Given the description of an element on the screen output the (x, y) to click on. 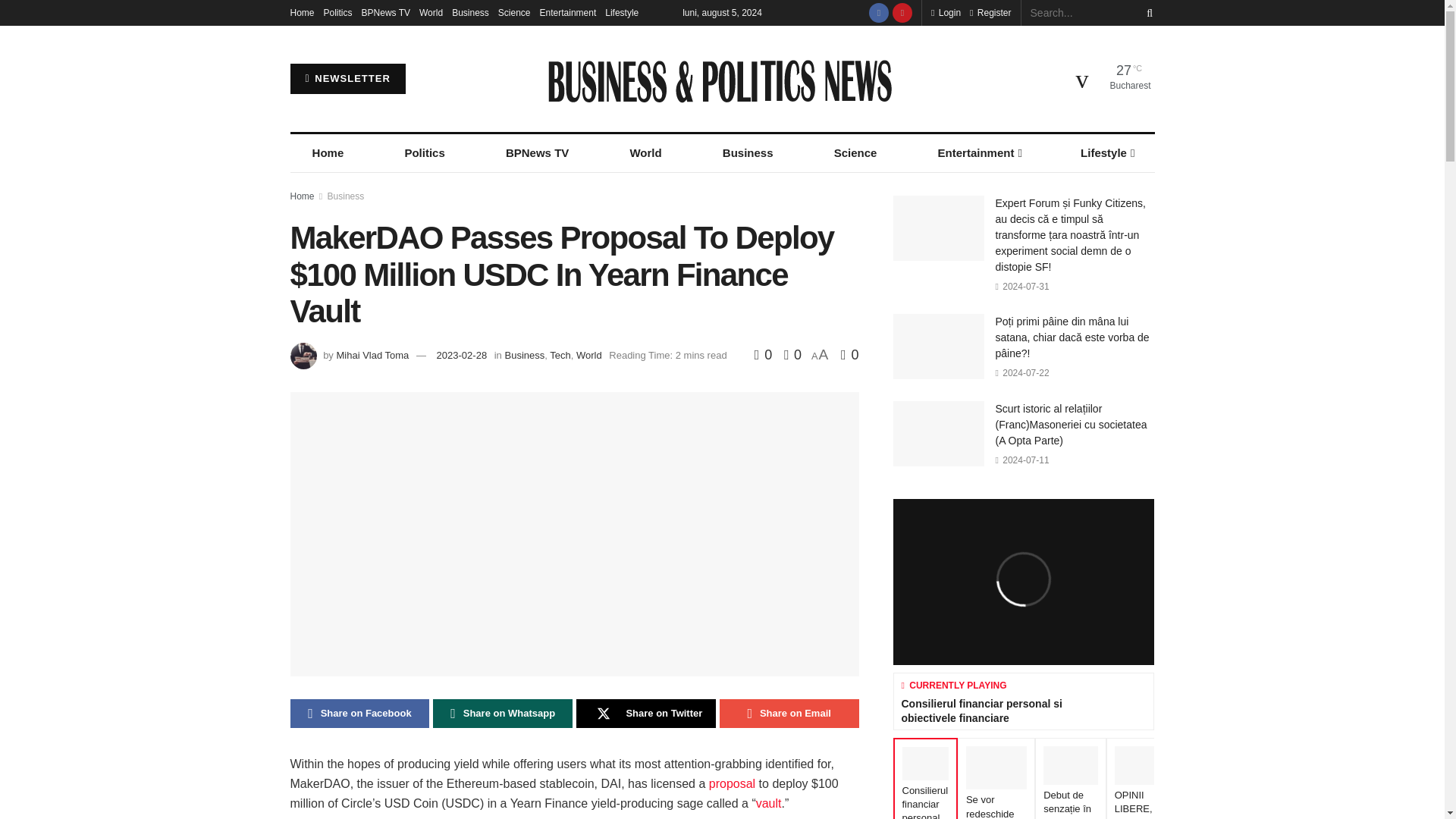
BPNews TV (385, 12)
BPNews TV (537, 152)
Politics (337, 12)
Science (514, 12)
Business (747, 152)
Home (327, 152)
NEWSLETTER (346, 78)
Business (470, 12)
World (430, 12)
Entertainment (568, 12)
World (644, 152)
Home (301, 12)
Register (989, 12)
Politics (424, 152)
Science (855, 152)
